Given the description of an element on the screen output the (x, y) to click on. 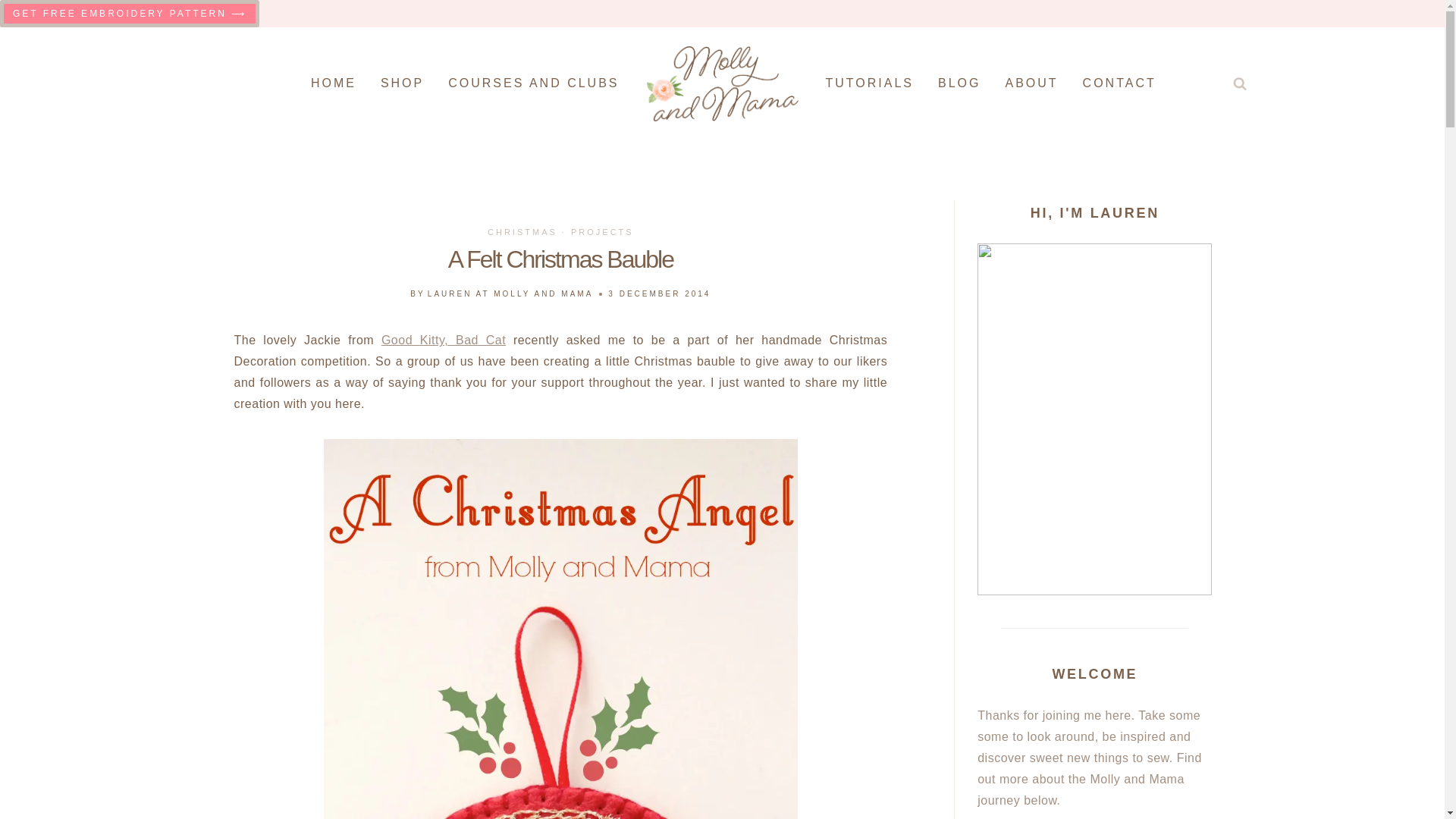
LAUREN AT MOLLY AND MAMA (511, 293)
ABOUT (1031, 83)
PROJECTS (601, 231)
COURSES AND CLUBS (532, 83)
SHOP (401, 83)
Good Kitty, Bad Cat (443, 339)
TUTORIALS (869, 83)
HOME (333, 83)
CHRISTMAS (522, 231)
CONTACT (1119, 83)
BLOG (959, 83)
